Given the description of an element on the screen output the (x, y) to click on. 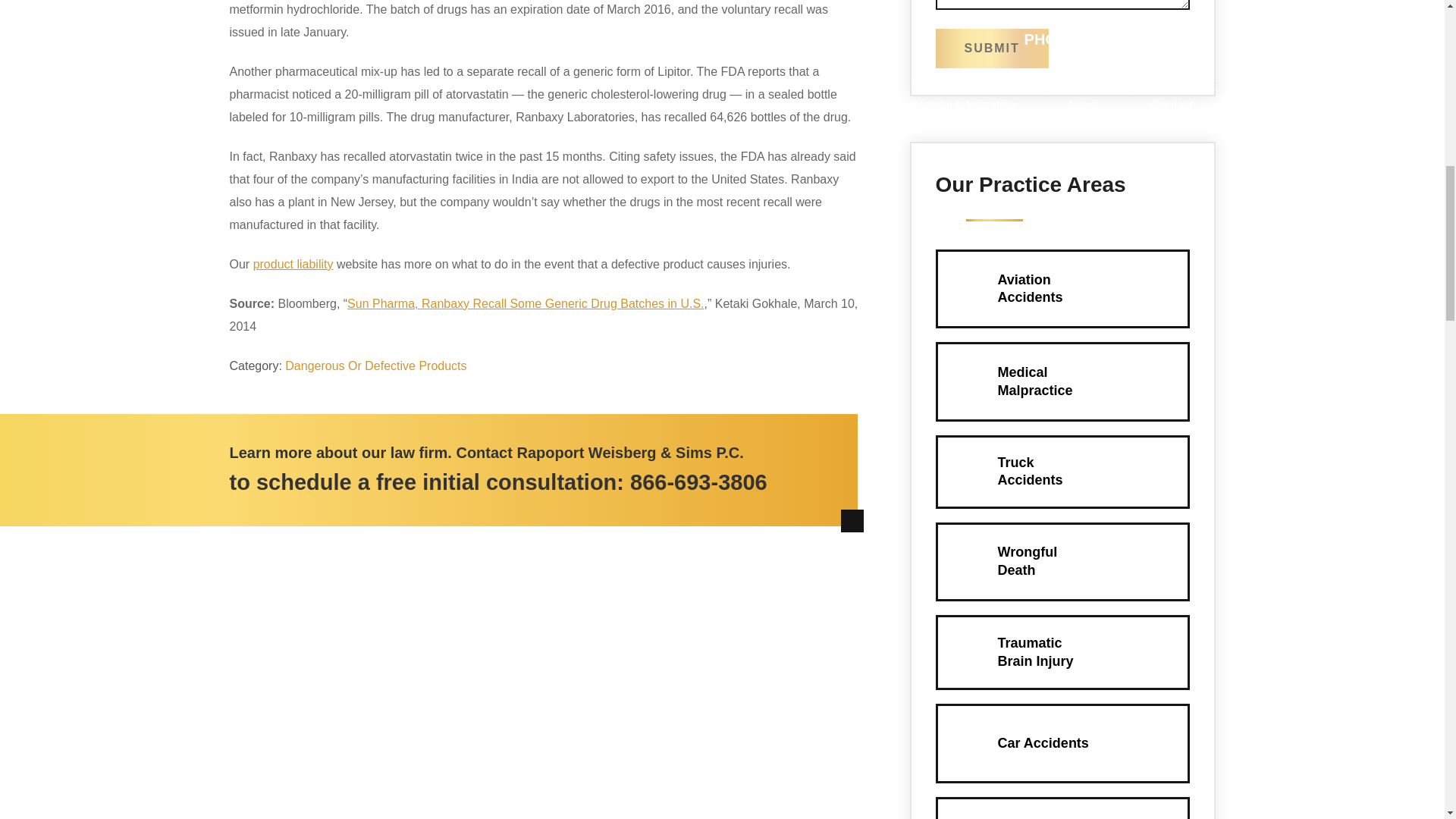
866-693-3806 (698, 482)
Sun Pharma, Ranbaxy Recall Some Generic Drug Batches in U.S. (525, 303)
product liability (293, 264)
Submit (1061, 561)
Dangerous Or Defective Products (992, 47)
Submit (375, 365)
